Given the description of an element on the screen output the (x, y) to click on. 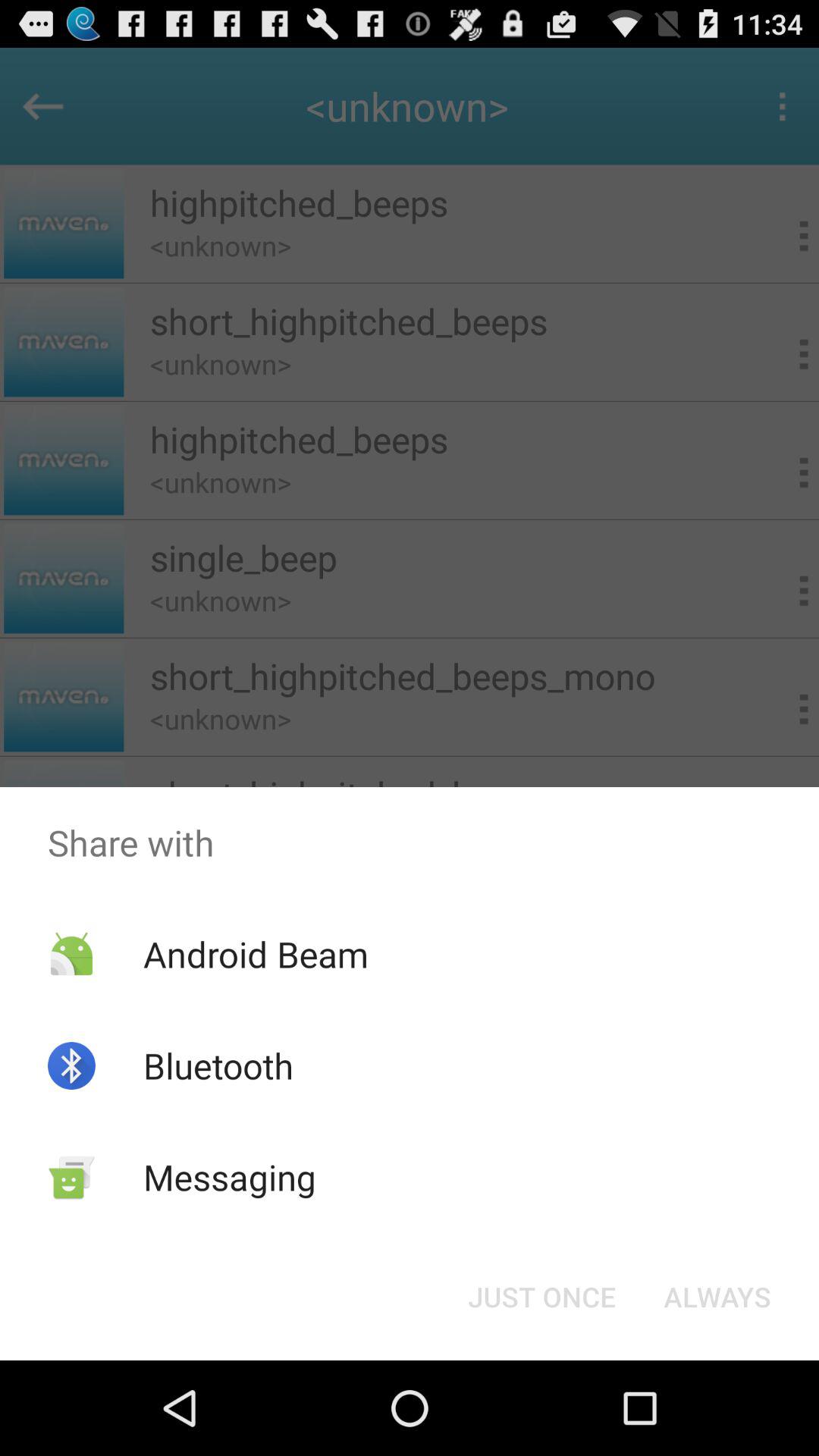
tap the app below share with (541, 1296)
